Given the description of an element on the screen output the (x, y) to click on. 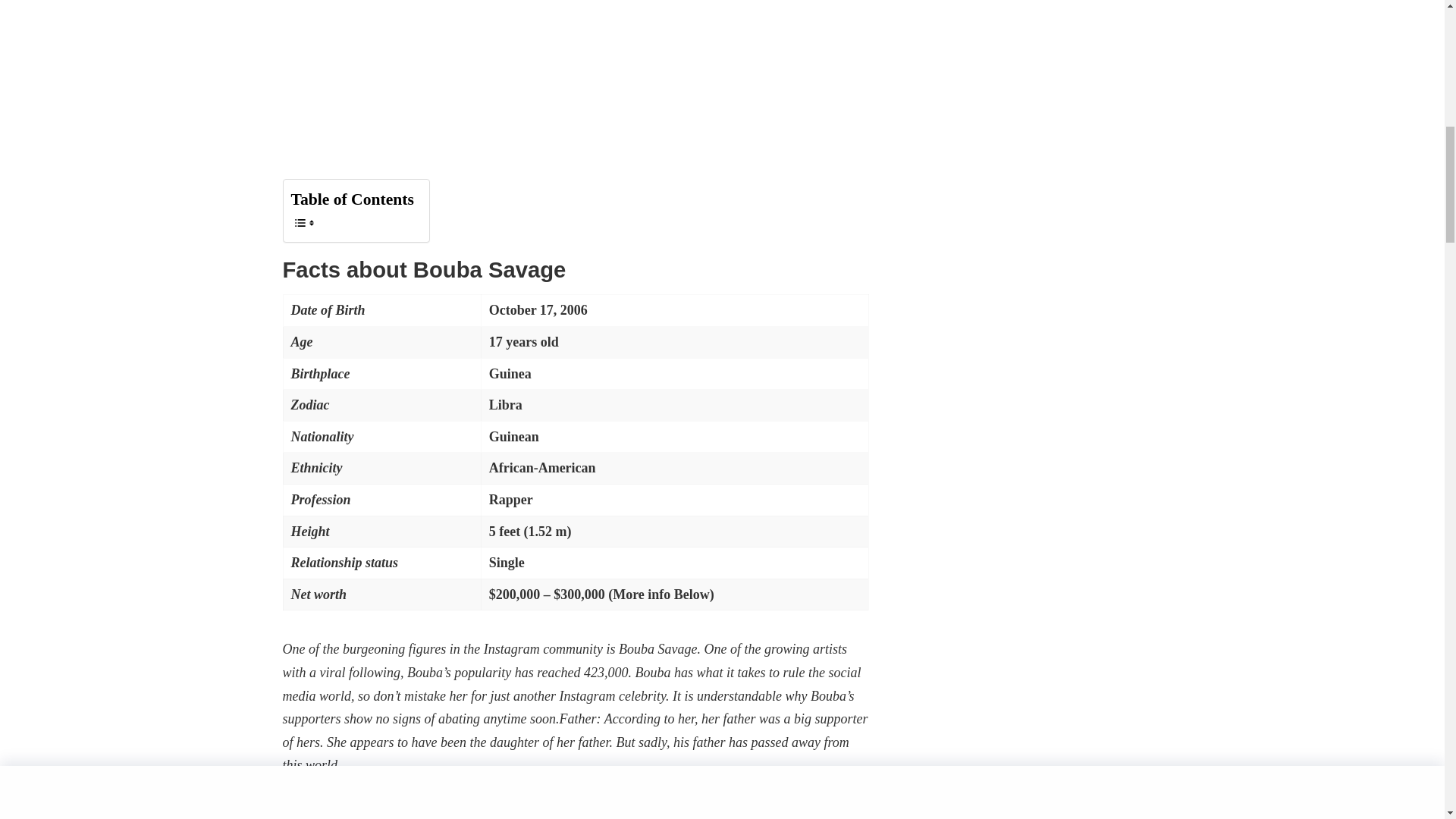
Advertisement (575, 72)
